Given the description of an element on the screen output the (x, y) to click on. 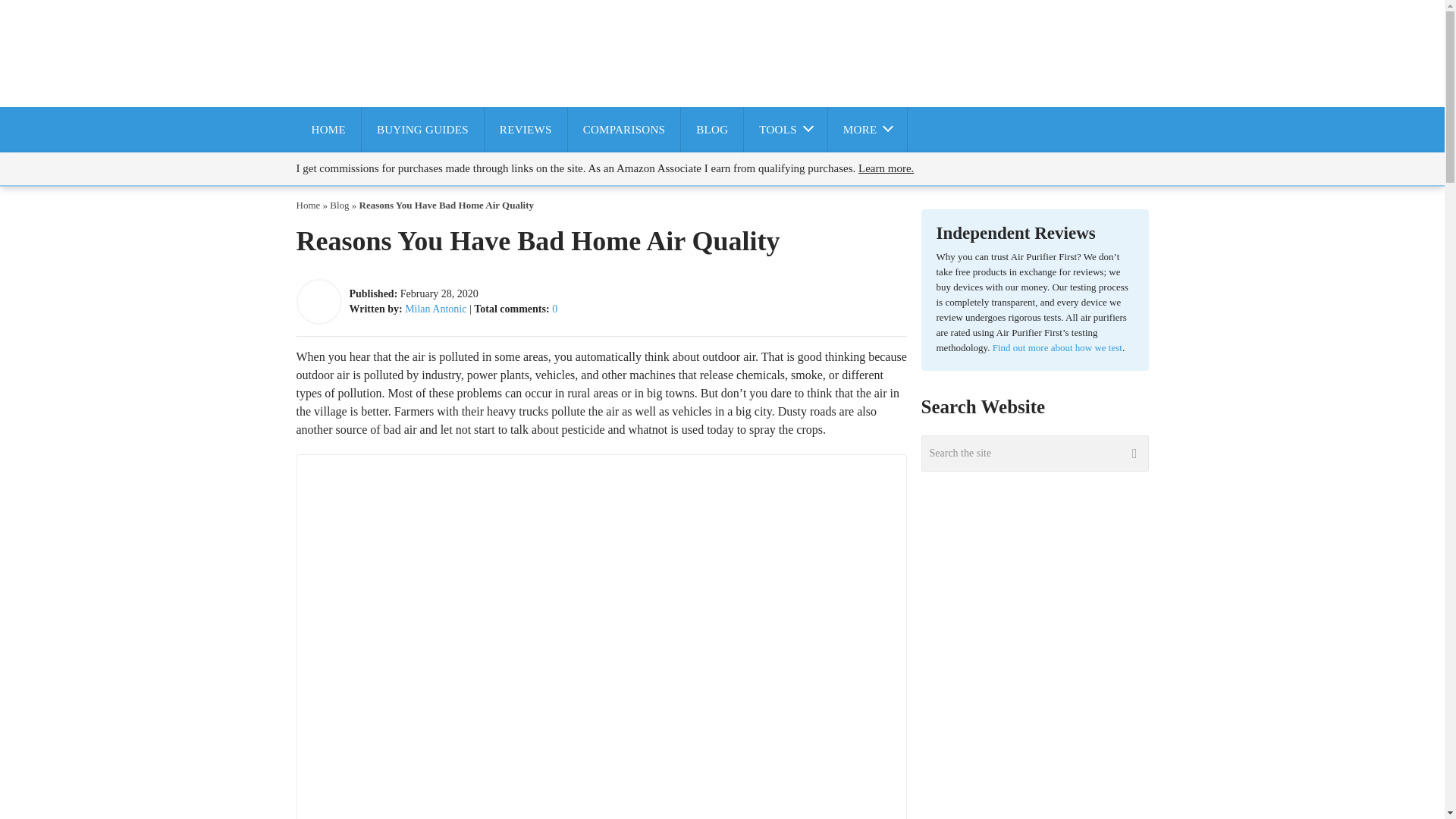
REVIEWS (525, 129)
MORE (867, 129)
COMPARISONS (624, 129)
HOME (327, 129)
BUYING GUIDES (422, 129)
BLOG (711, 129)
Written by Milan Antonic (434, 308)
Learn more. (886, 168)
TOOLS (785, 129)
Blog (339, 204)
